Given the description of an element on the screen output the (x, y) to click on. 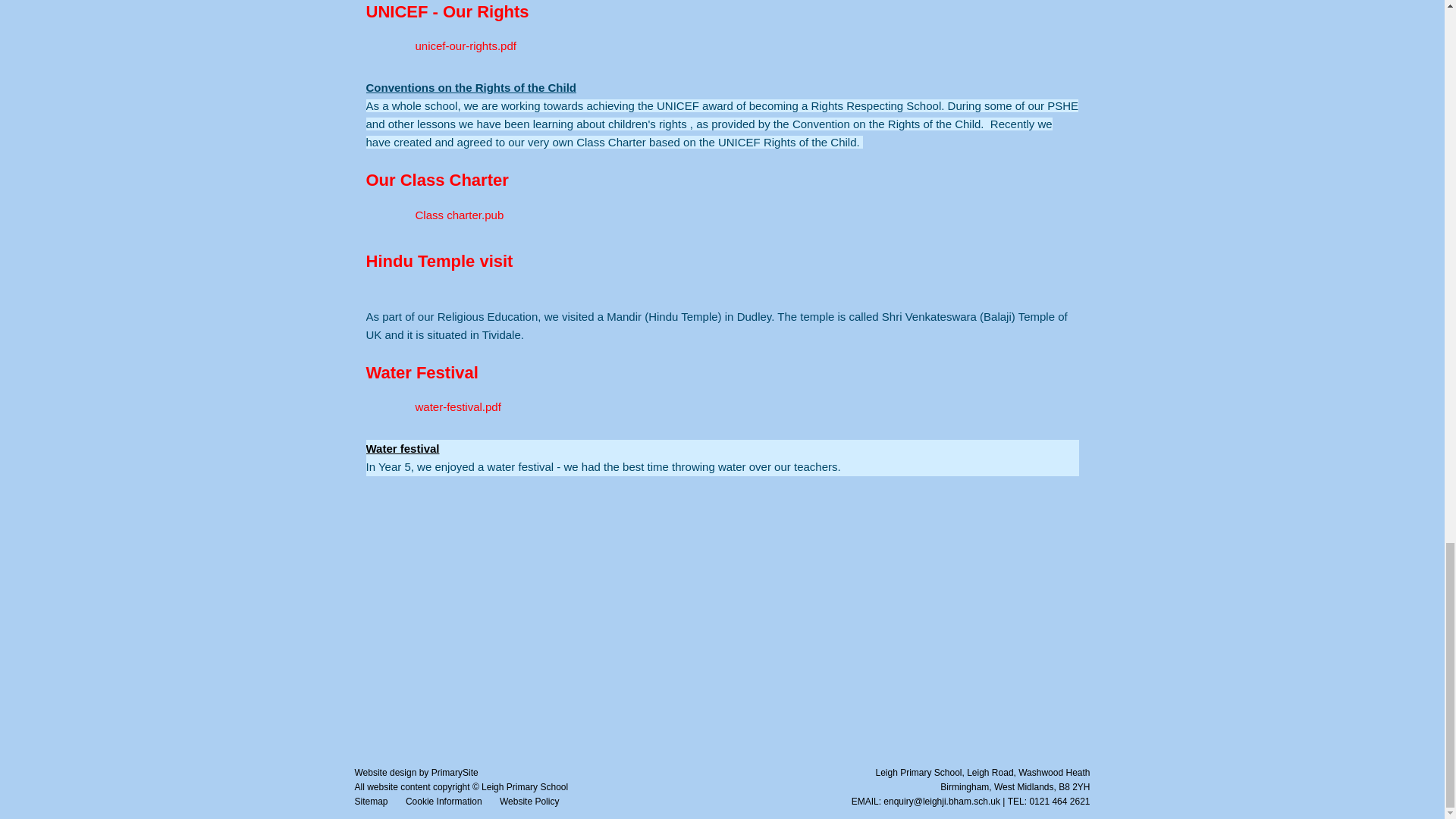
unicef-our-rights.pdf (440, 45)
